Given the description of an element on the screen output the (x, y) to click on. 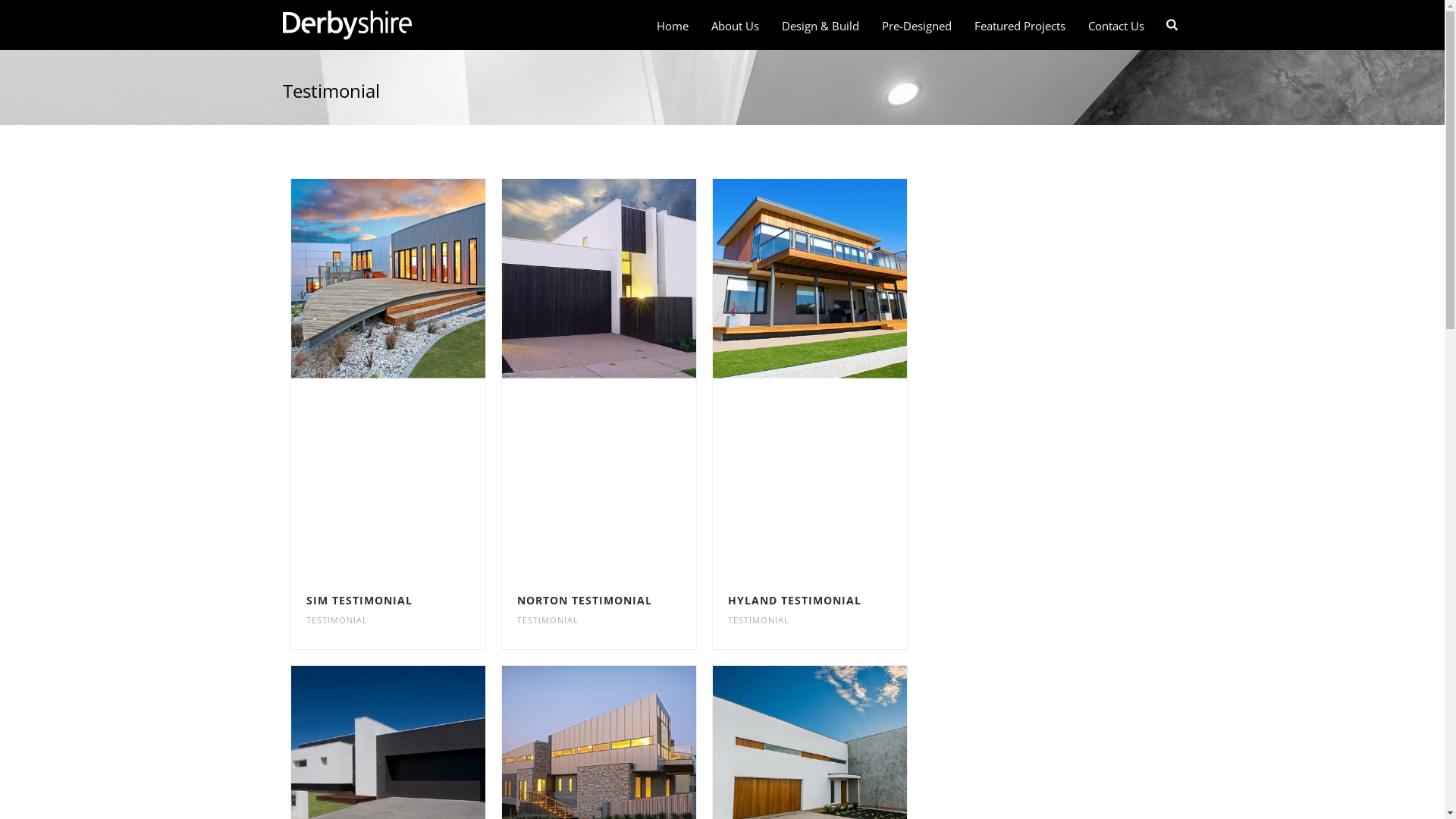
Home Element type: text (672, 25)
TESTIMONIAL Element type: text (547, 619)
Design & Build Element type: text (820, 25)
Norton Testimonial Element type: hover (598, 277)
SIM TESTIMONIAL Element type: text (359, 600)
TESTIMONIAL Element type: text (758, 619)
Contact Us Element type: text (1115, 25)
NORTON TESTIMONIAL Element type: text (584, 600)
Sim Testimonial Element type: hover (387, 277)
Hyland Testimonial Element type: hover (809, 277)
Architecturally design and builder of luxury homes Element type: hover (346, 24)
TESTIMONIAL Element type: text (336, 619)
Featured Projects Element type: text (1019, 25)
Pre-Designed Element type: text (916, 25)
HYLAND TESTIMONIAL Element type: text (794, 600)
About Us Element type: text (734, 25)
